Given the description of an element on the screen output the (x, y) to click on. 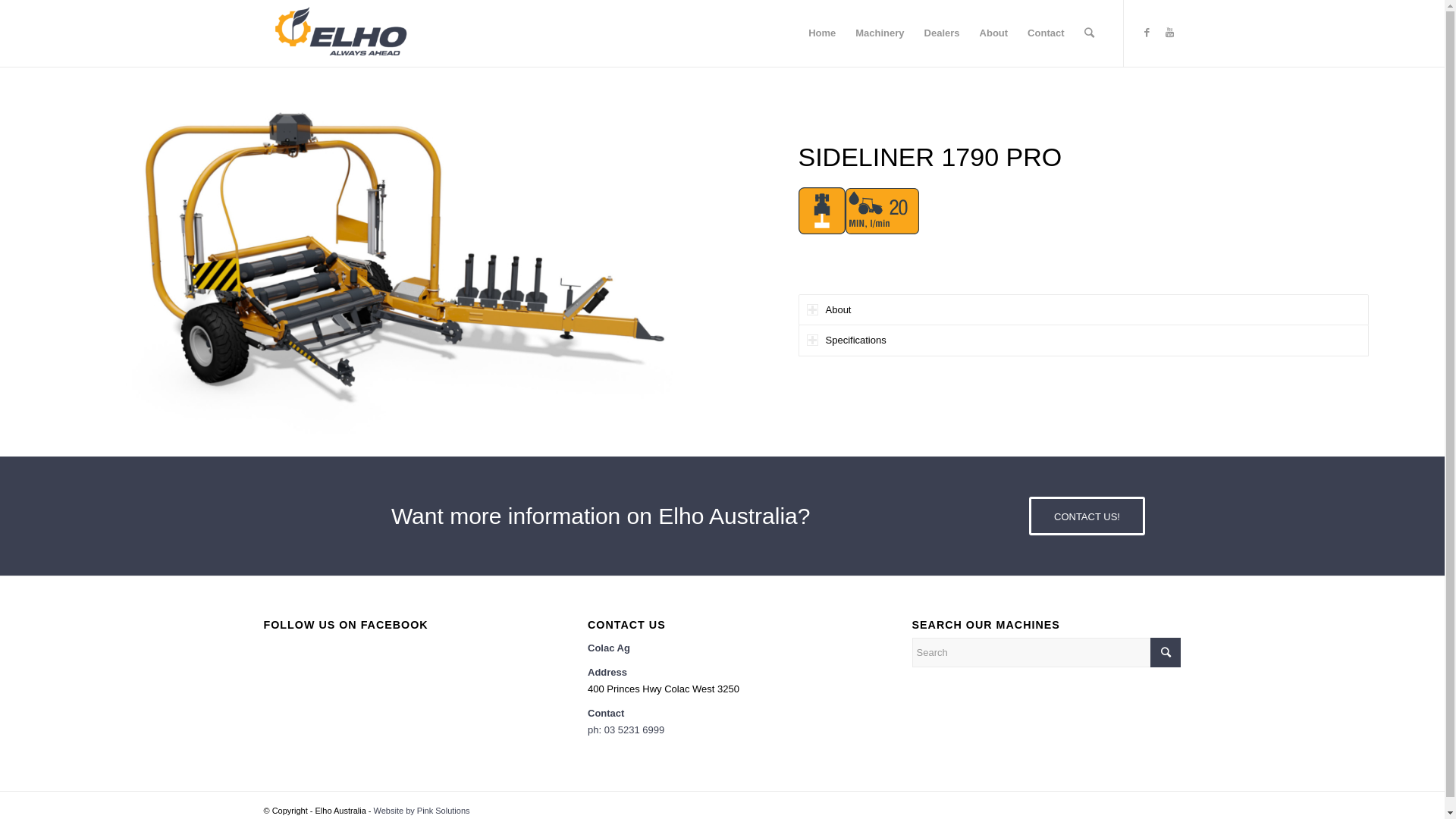
CONTACT US! Element type: text (1087, 515)
Machinery Element type: text (879, 33)
Website by Pink Solutions Element type: text (421, 810)
ph: 03 5231 6999 Element type: text (625, 729)
Dealers Element type: text (941, 33)
Youtube Element type: hover (1169, 32)
1790Pro Element type: hover (360, 261)
Contact Element type: text (1045, 33)
Facebook Element type: hover (1146, 32)
Home Element type: text (821, 33)
About Element type: text (993, 33)
